Given the description of an element on the screen output the (x, y) to click on. 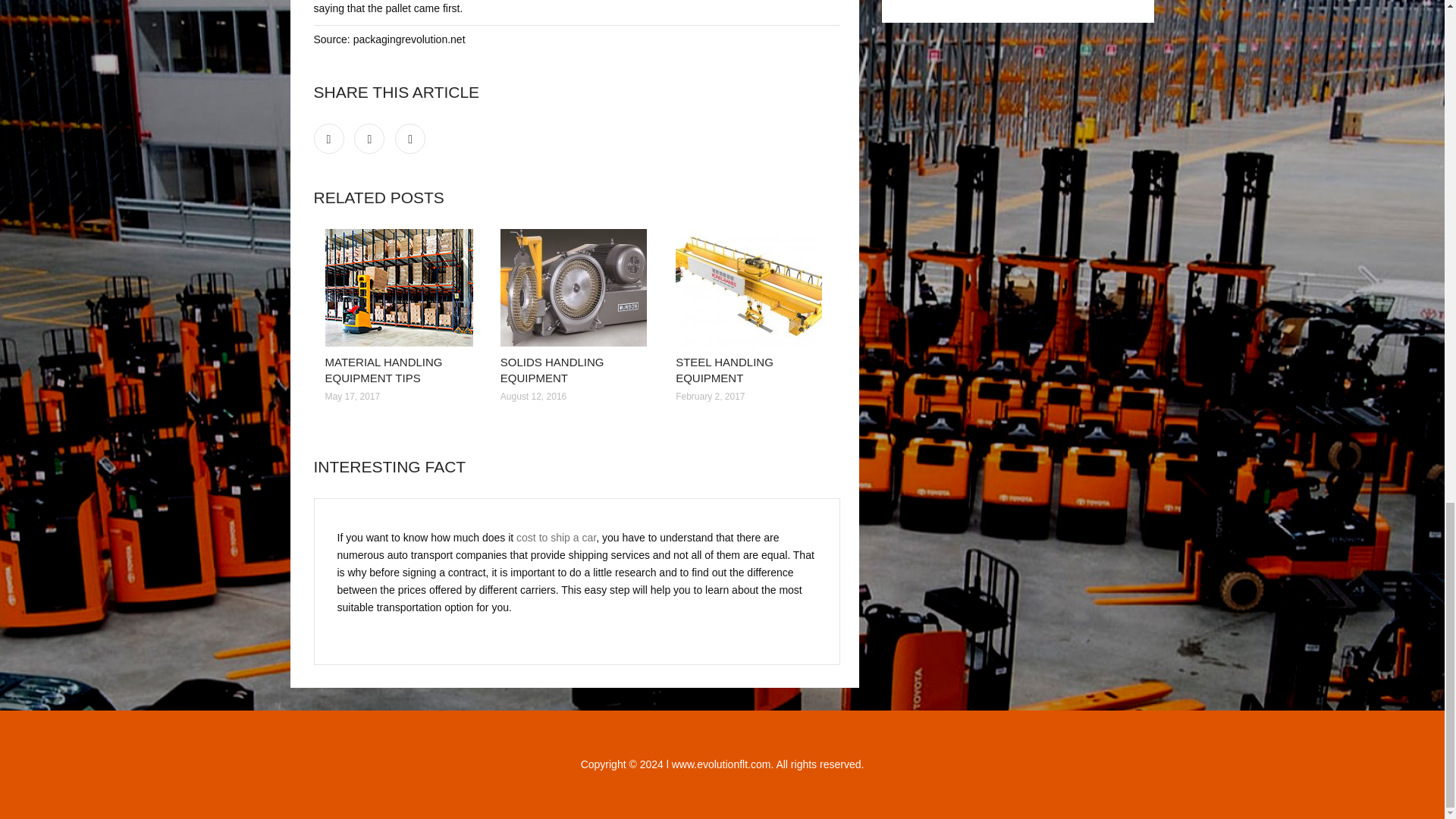
STEEL HANDLING EQUIPMENT (724, 369)
Steel Handling Equipment (751, 287)
Material Handling Equipment Tips (400, 287)
Solids Handling Equipment (576, 287)
MATERIAL HANDLING EQUIPMENT TIPS (383, 369)
SOLIDS HANDLING EQUIPMENT (552, 369)
cost to ship a car (555, 537)
